Given the description of an element on the screen output the (x, y) to click on. 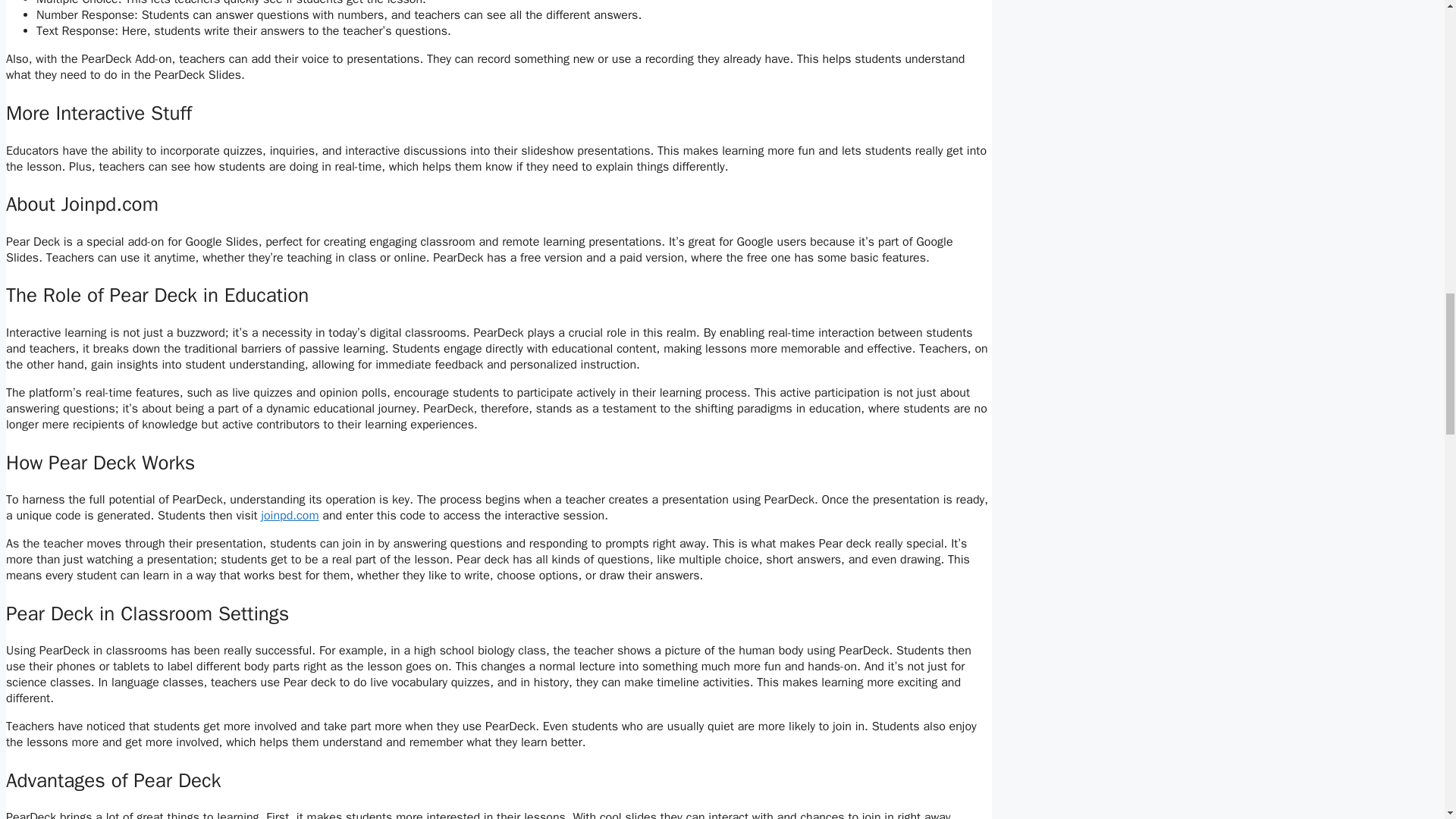
joinpd.com (289, 515)
